Given the description of an element on the screen output the (x, y) to click on. 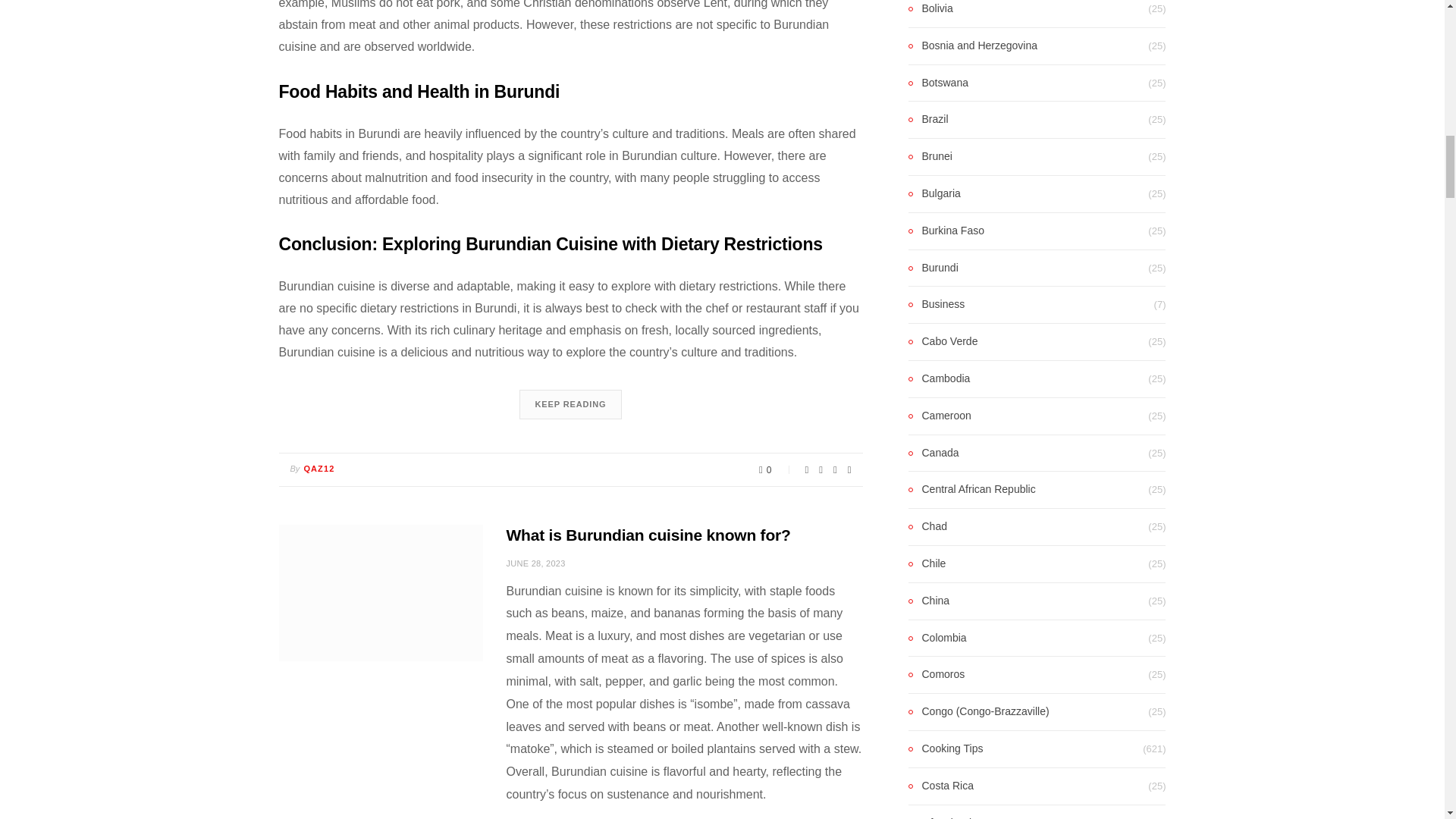
0 (775, 470)
QAZ12 (318, 468)
Posts by qaz12 (318, 468)
KEEP READING (570, 404)
